Given the description of an element on the screen output the (x, y) to click on. 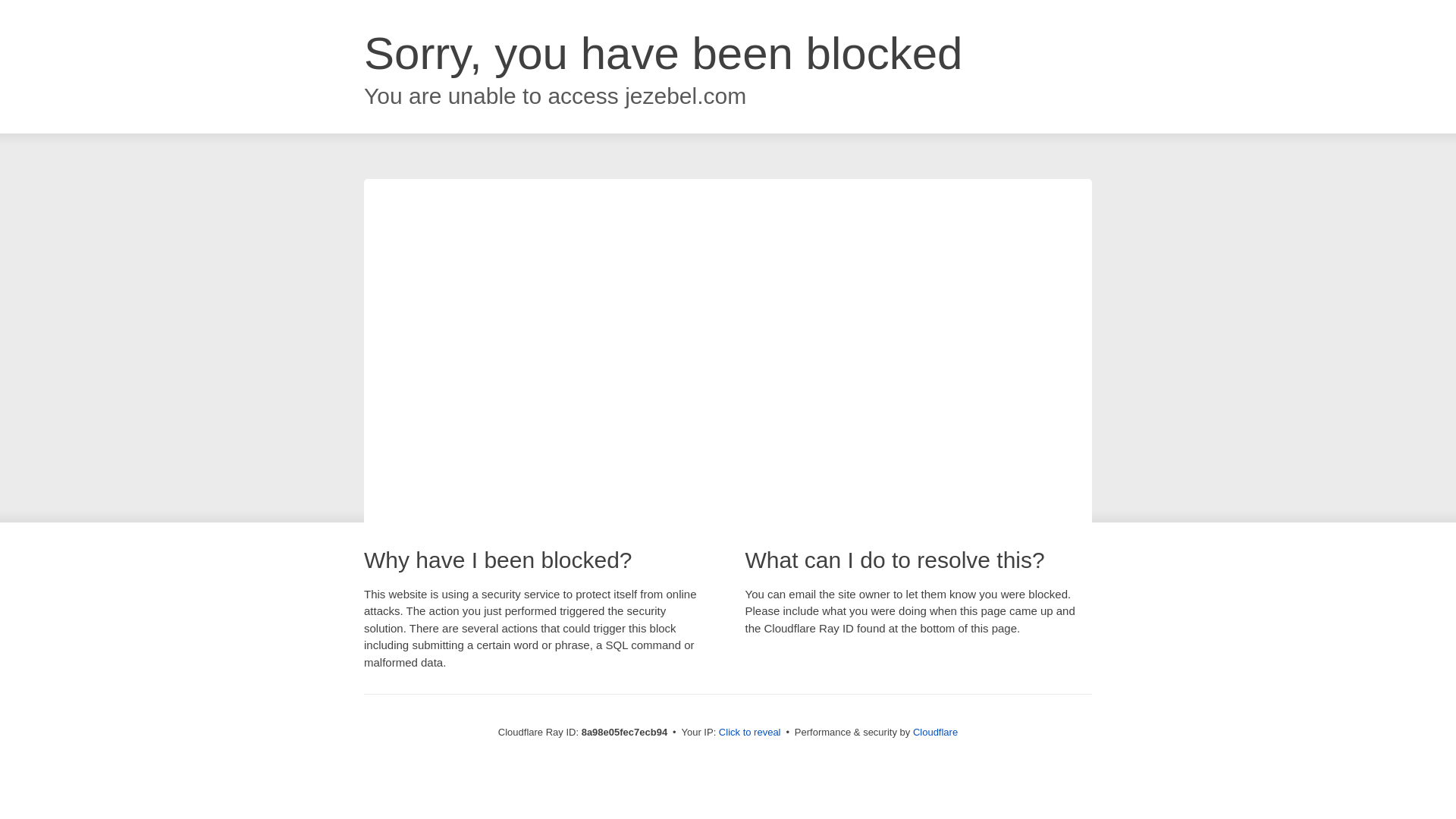
Cloudflare (935, 731)
Click to reveal (749, 732)
